Given the description of an element on the screen output the (x, y) to click on. 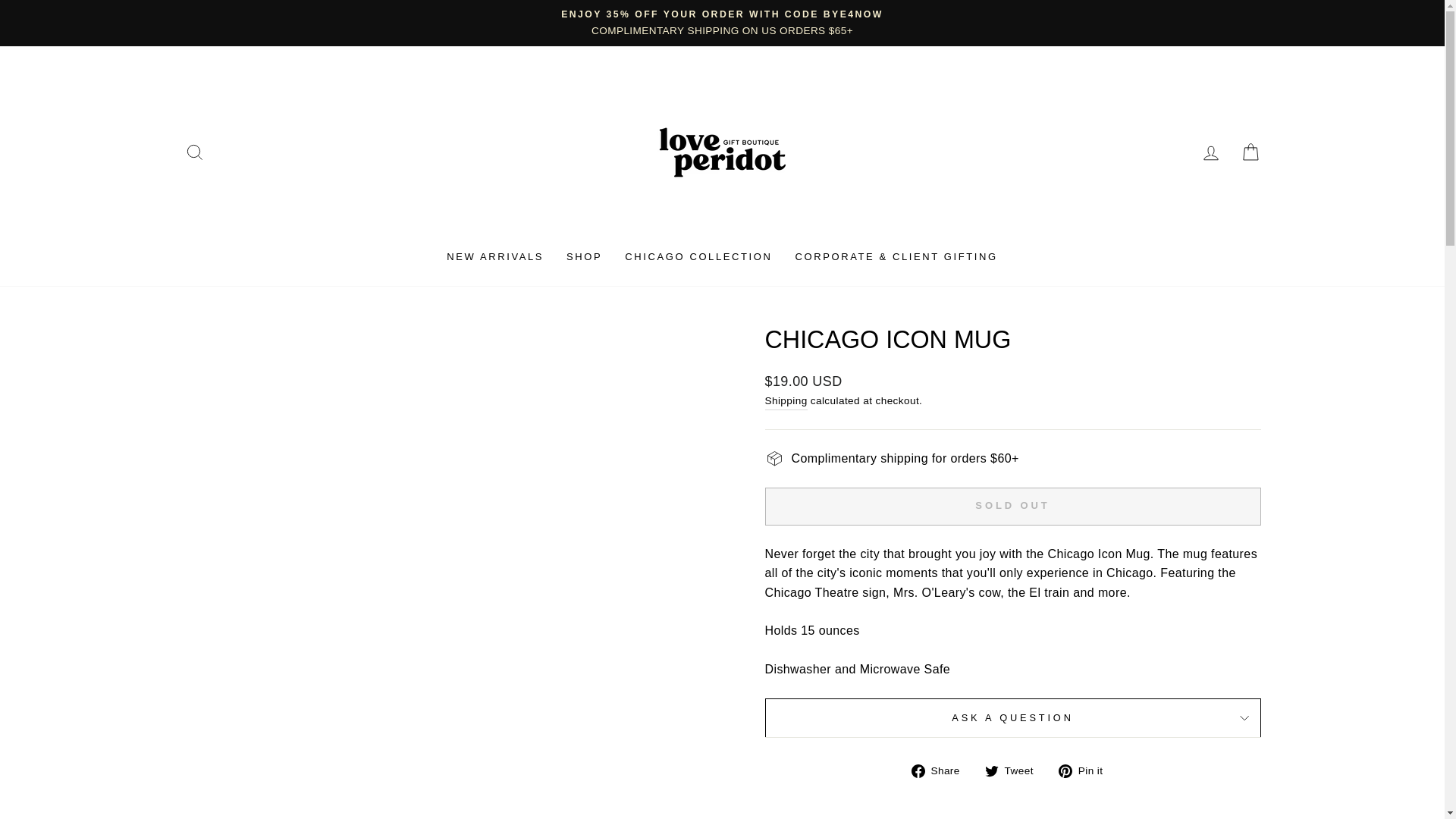
NEW ARRIVALS (494, 257)
Pin on Pinterest (1085, 770)
Share on Facebook (941, 770)
CART (1249, 152)
Tweet on Twitter (1015, 770)
CHICAGO COLLECTION (697, 257)
SHOP (583, 257)
LOG IN (1210, 152)
SEARCH (194, 152)
